Given the description of an element on the screen output the (x, y) to click on. 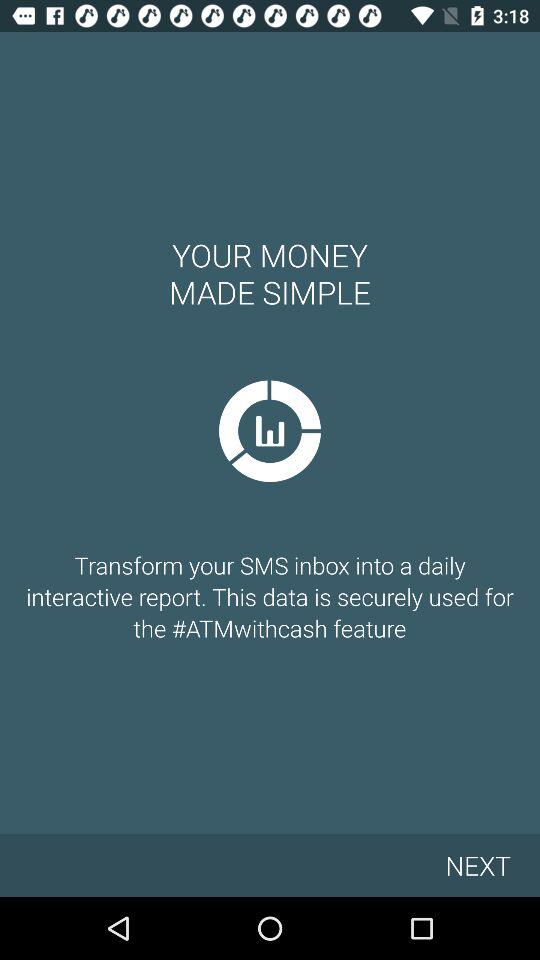
flip to next (478, 864)
